Given the description of an element on the screen output the (x, y) to click on. 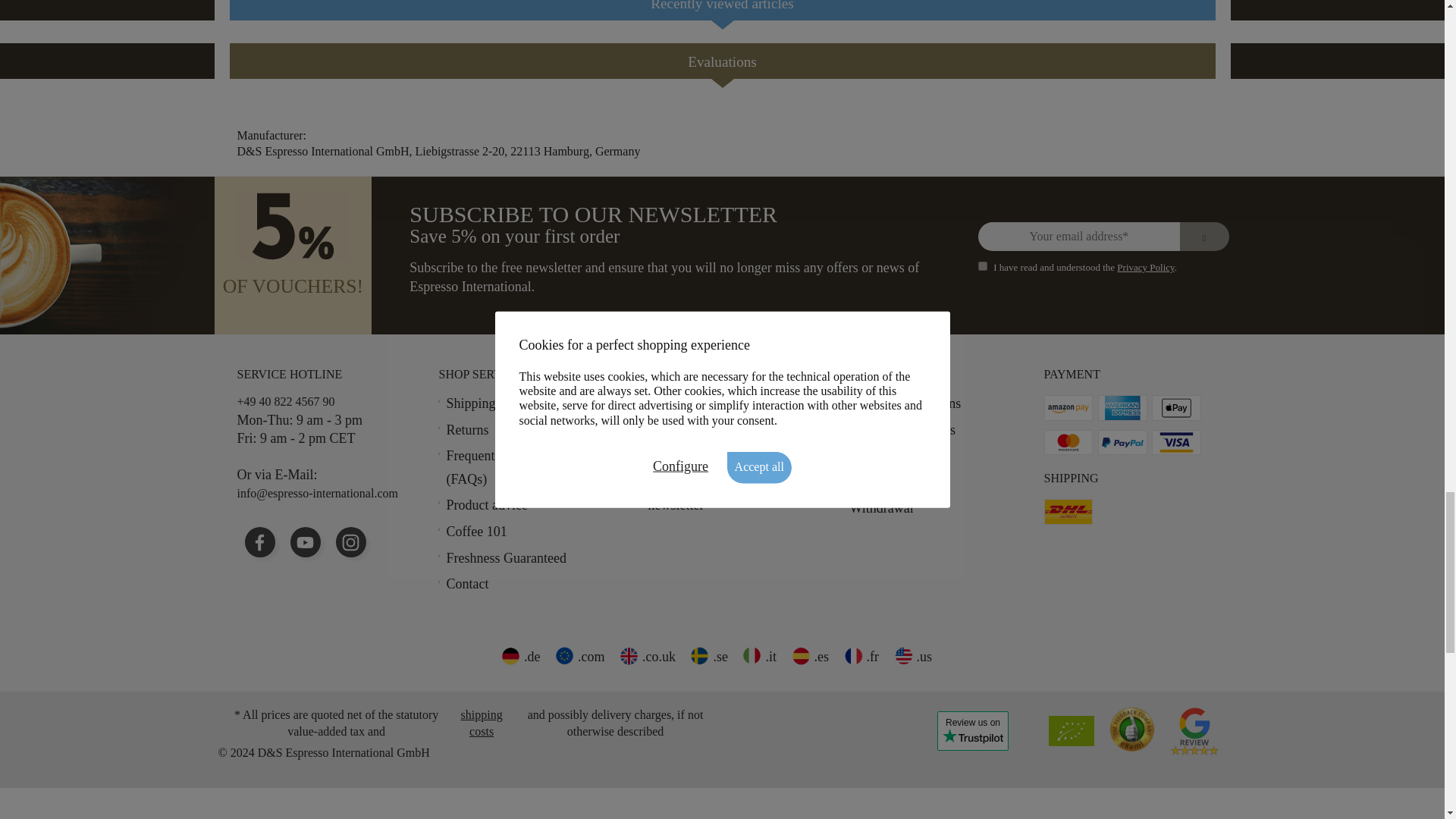
on (982, 266)
